Given the description of an element on the screen output the (x, y) to click on. 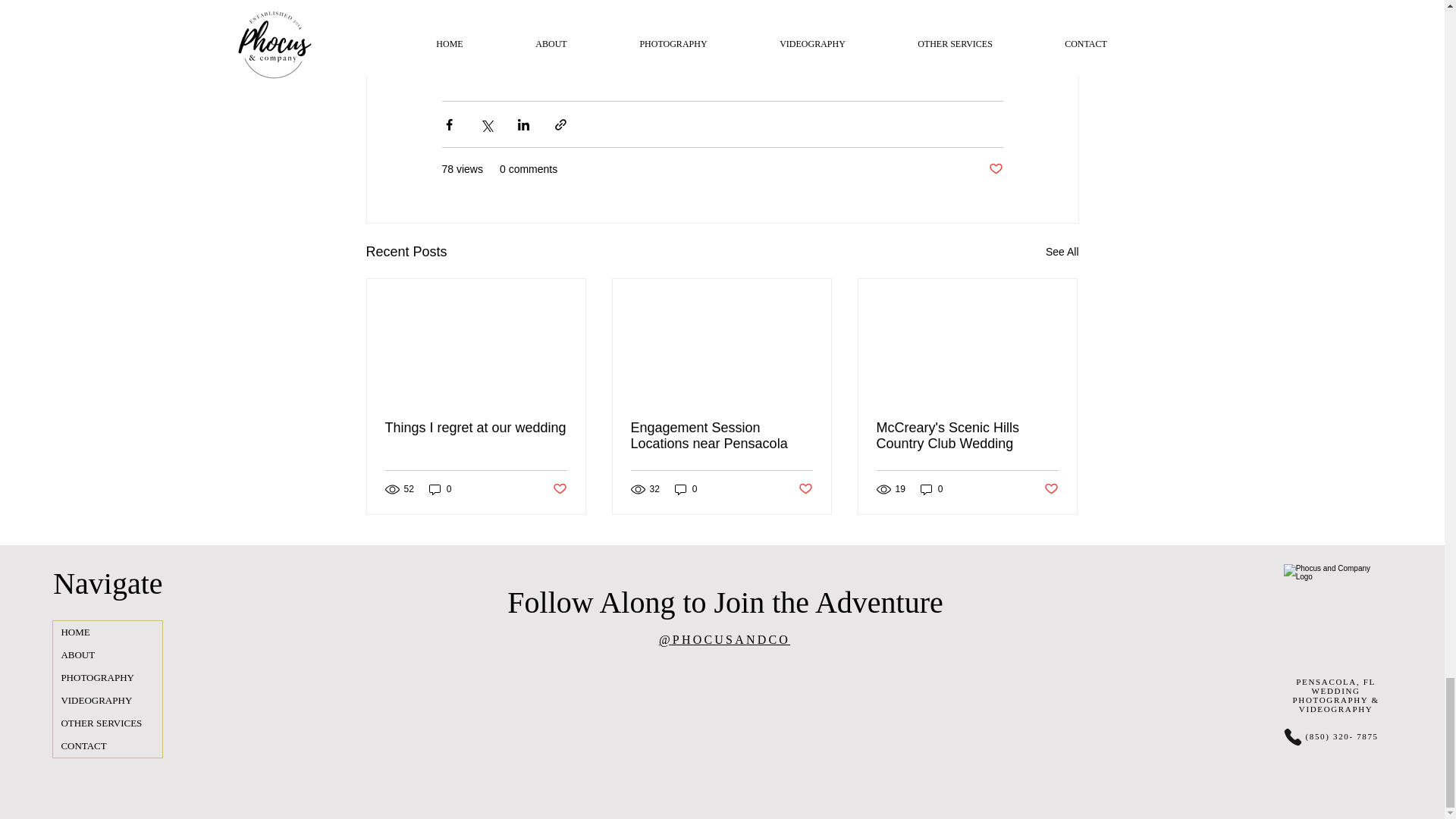
Post not marked as liked (558, 489)
Post not marked as liked (995, 169)
McCreary's Scenic Hills Country Club Wedding (967, 436)
ABOUT (106, 654)
Engagement Session Locations near Pensacola (721, 436)
Post not marked as liked (804, 489)
See All (1061, 251)
0 (685, 489)
0 (440, 489)
Epping Forrest Yacht Club (561, 11)
